Given the description of an element on the screen output the (x, y) to click on. 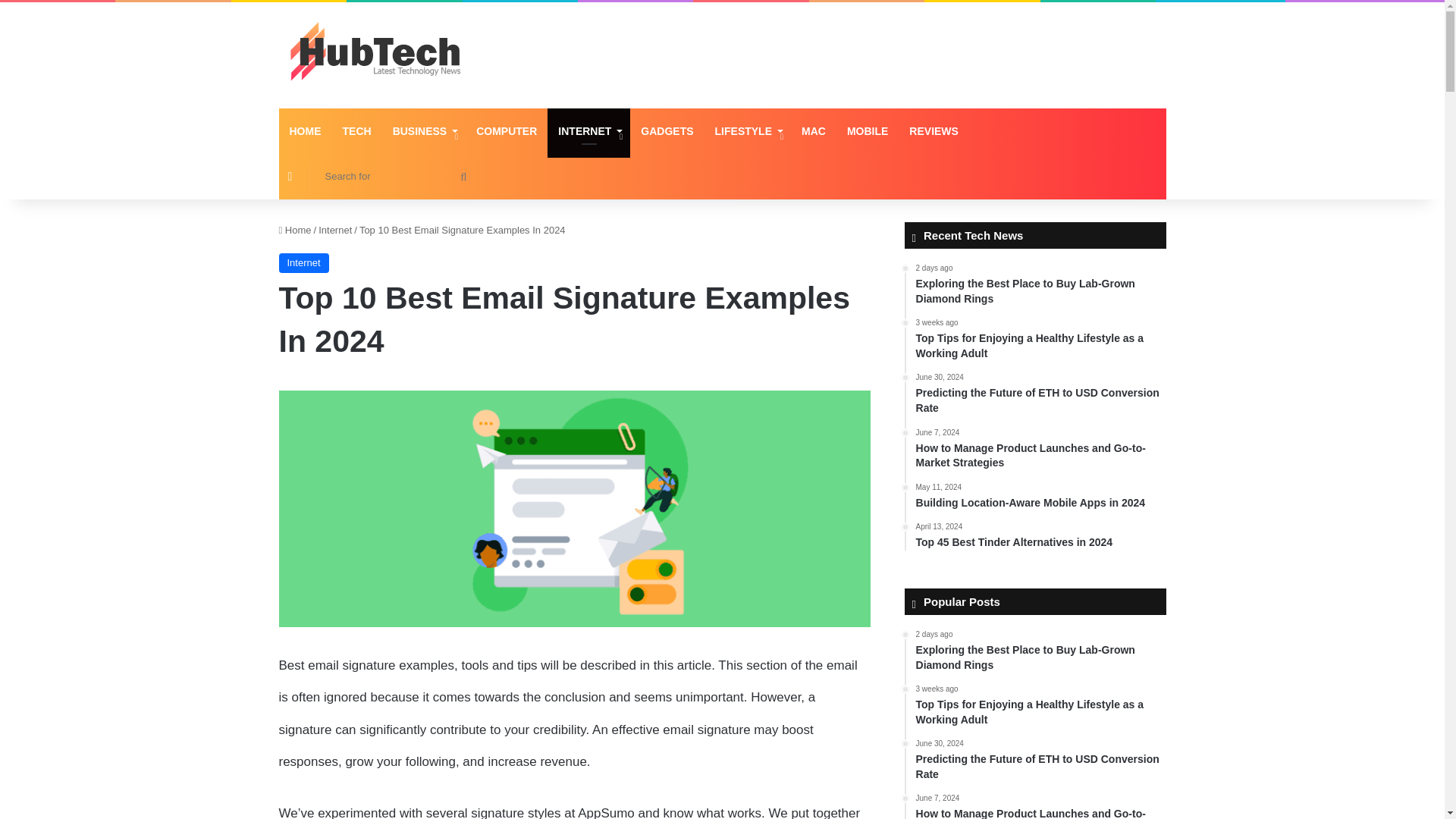
HOME (305, 130)
BUSINESS (423, 130)
REVIEWS (933, 130)
TECH (356, 130)
COMPUTER (506, 130)
Home (295, 229)
Search for (393, 176)
INTERNET (588, 130)
Internet (304, 262)
MAC (812, 130)
